Given the description of an element on the screen output the (x, y) to click on. 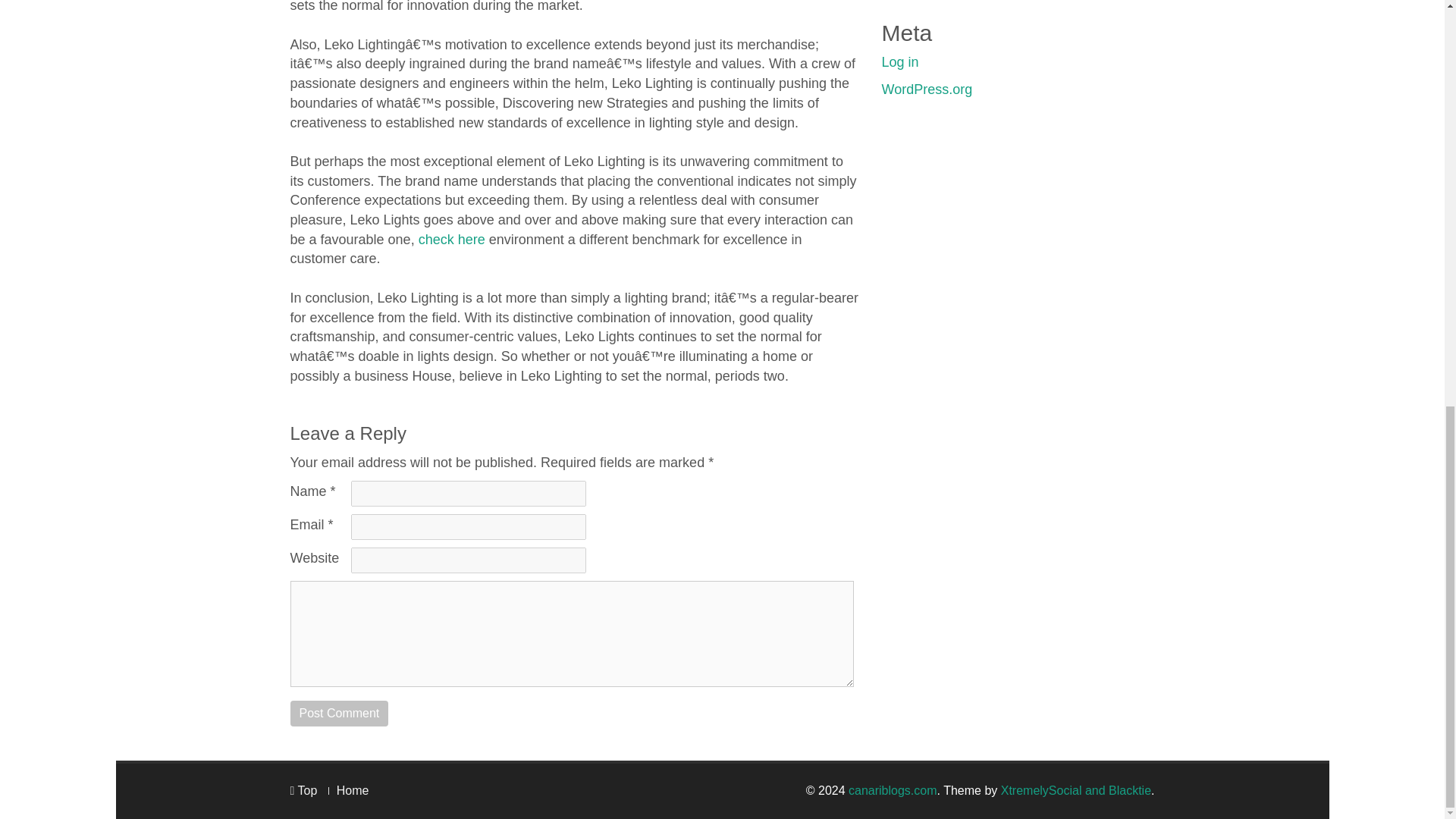
Home (352, 789)
Top (303, 789)
Home (352, 789)
check here (451, 239)
Post Comment (338, 713)
WordPress.org (926, 89)
Top (303, 789)
Post Comment (338, 713)
Log in (899, 61)
Back to top of page (303, 789)
